Given the description of an element on the screen output the (x, y) to click on. 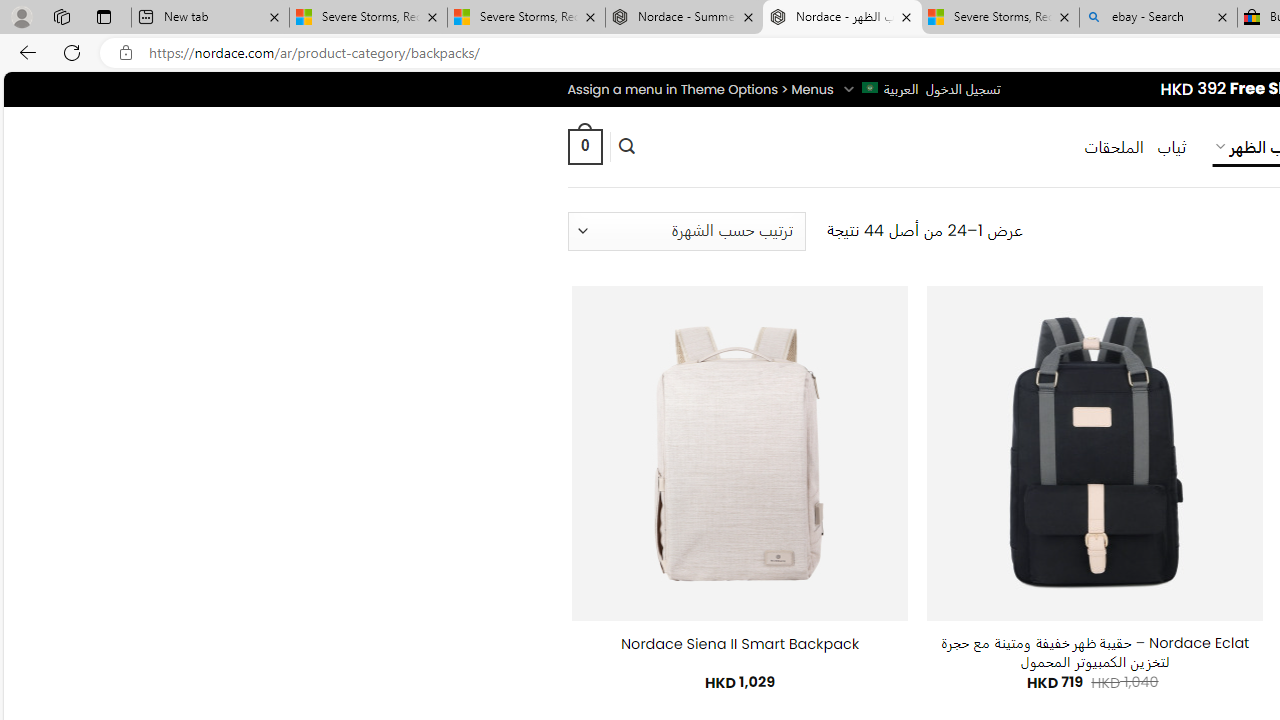
Assign a menu in Theme Options > Menus (700, 89)
 0  (584, 146)
